Given the description of an element on the screen output the (x, y) to click on. 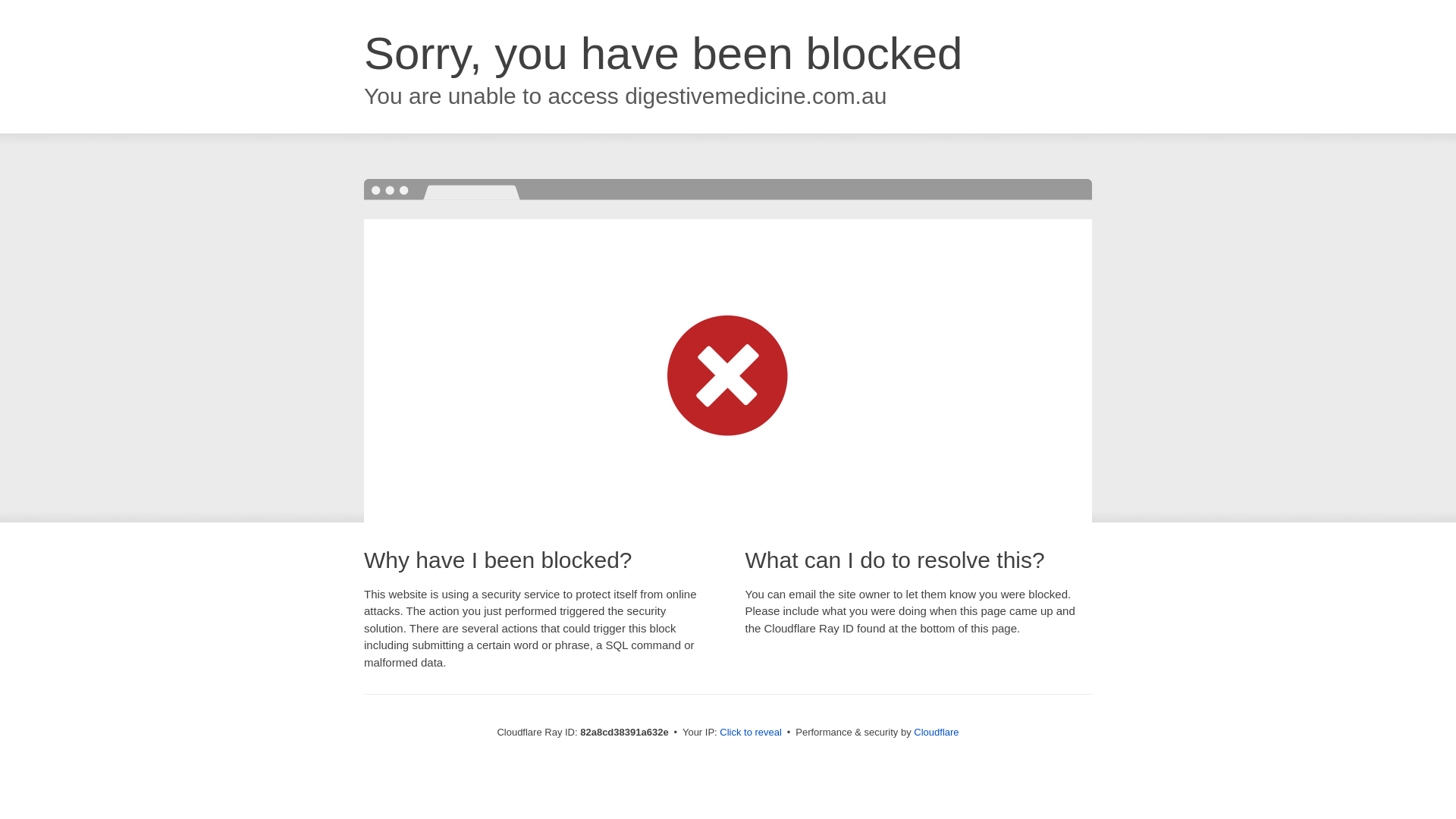
Click to reveal Element type: text (750, 732)
Cloudflare Element type: text (935, 731)
